Given the description of an element on the screen output the (x, y) to click on. 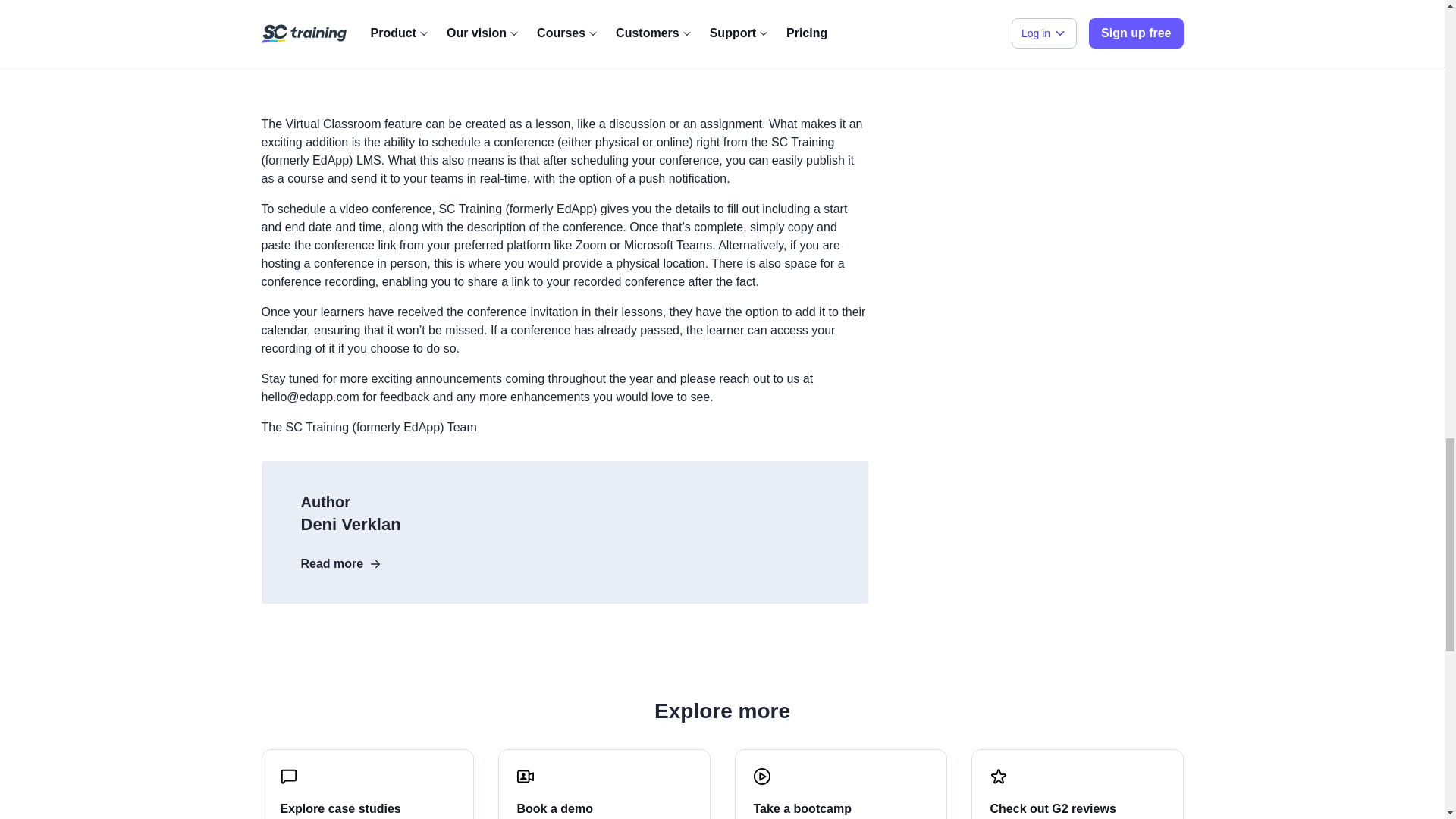
Active Learning (564, 36)
